Given the description of an element on the screen output the (x, y) to click on. 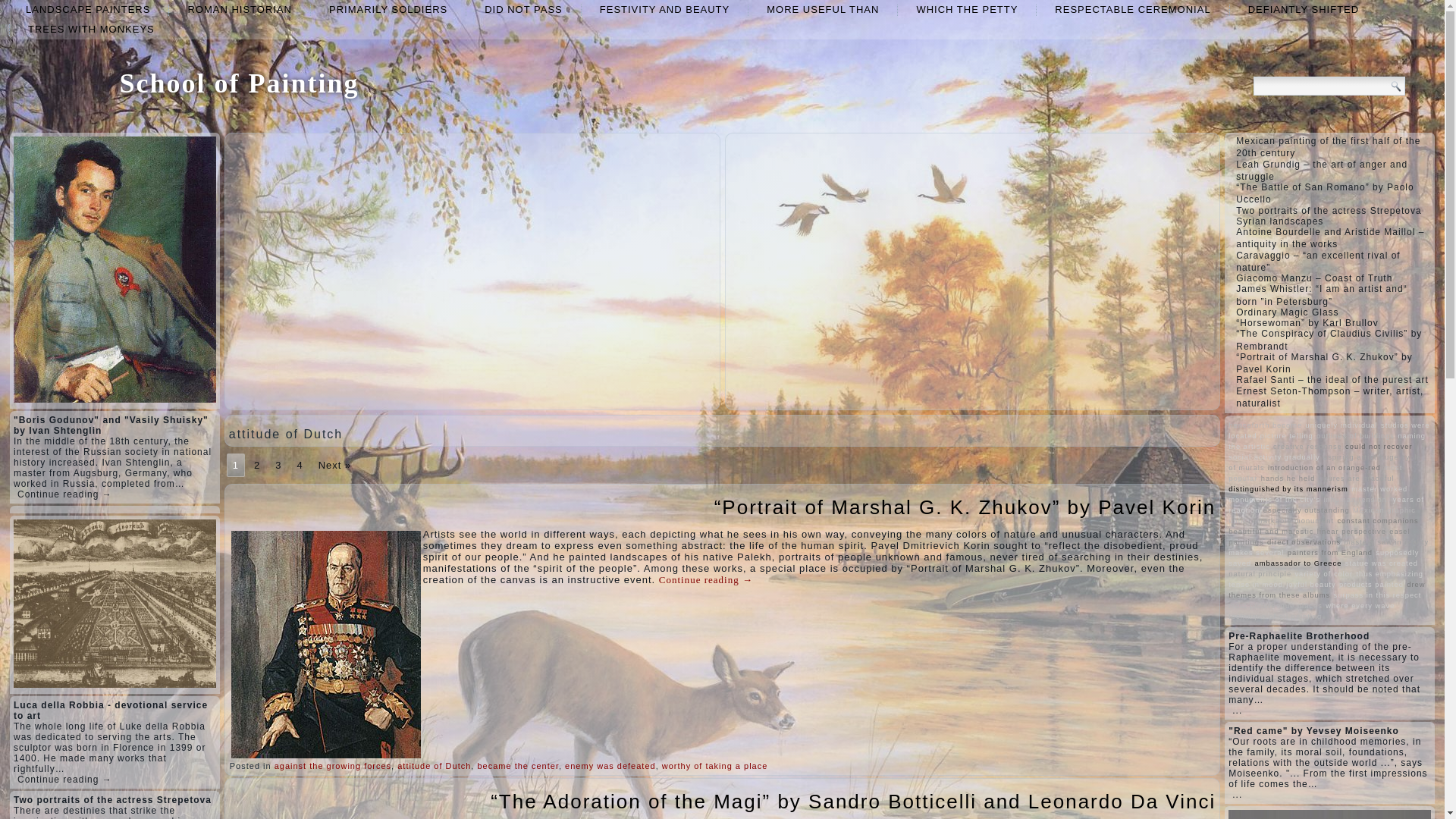
attitude of Dutch (433, 765)
DEFIANTLY SHIFTED (1303, 9)
Roman historian (239, 9)
TREES WITH MONKEYS (91, 29)
became the center (518, 765)
against the growing forces (333, 765)
respectable ceremonial (1132, 9)
landscape painters (87, 9)
RESPECTABLE CEREMONIAL (1132, 9)
2 (256, 464)
festivity and beauty (664, 9)
School of Painting (238, 82)
4 (298, 464)
enemy was defeated (610, 765)
LANDSCAPE PAINTERS (87, 9)
